Given the description of an element on the screen output the (x, y) to click on. 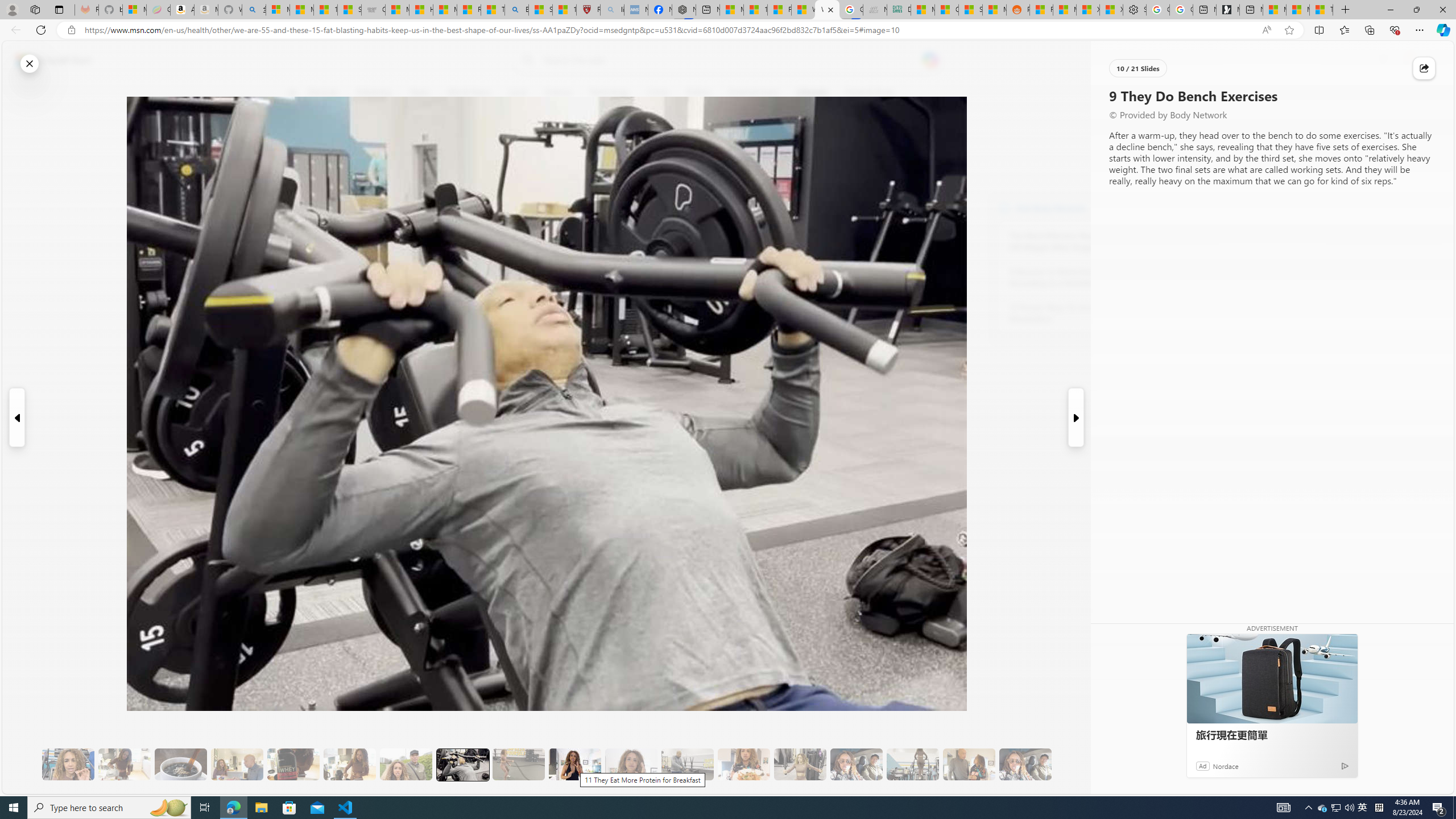
8 They Walk to the Gym (406, 764)
5 She Eats Less Than Her Husband (237, 764)
16 The Couple's Program Helps with Accountability (855, 764)
16 The Couple's Program Helps with Accountability (855, 764)
